Given the description of an element on the screen output the (x, y) to click on. 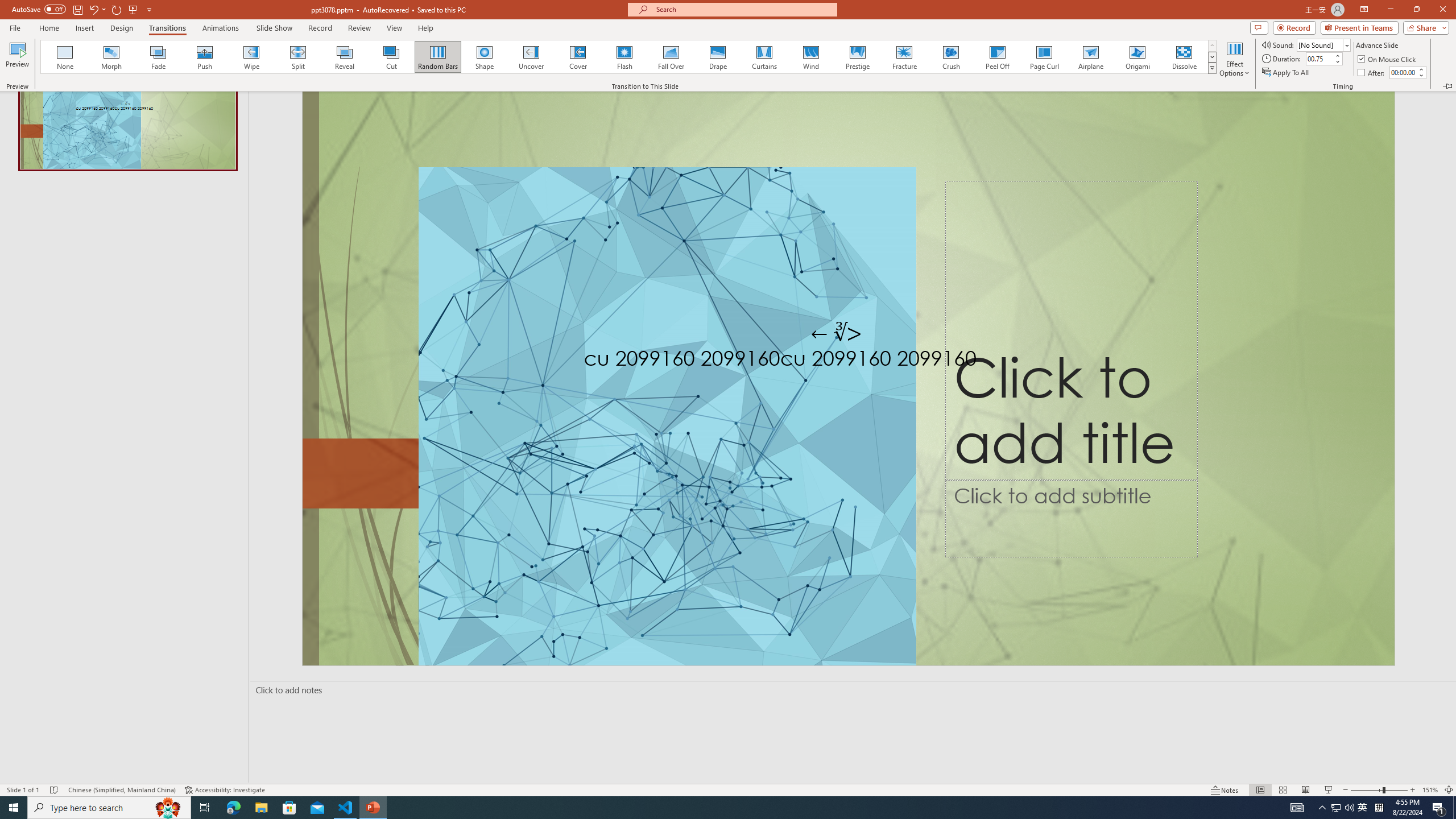
Zoom 151% (1430, 790)
